Given the description of an element on the screen output the (x, y) to click on. 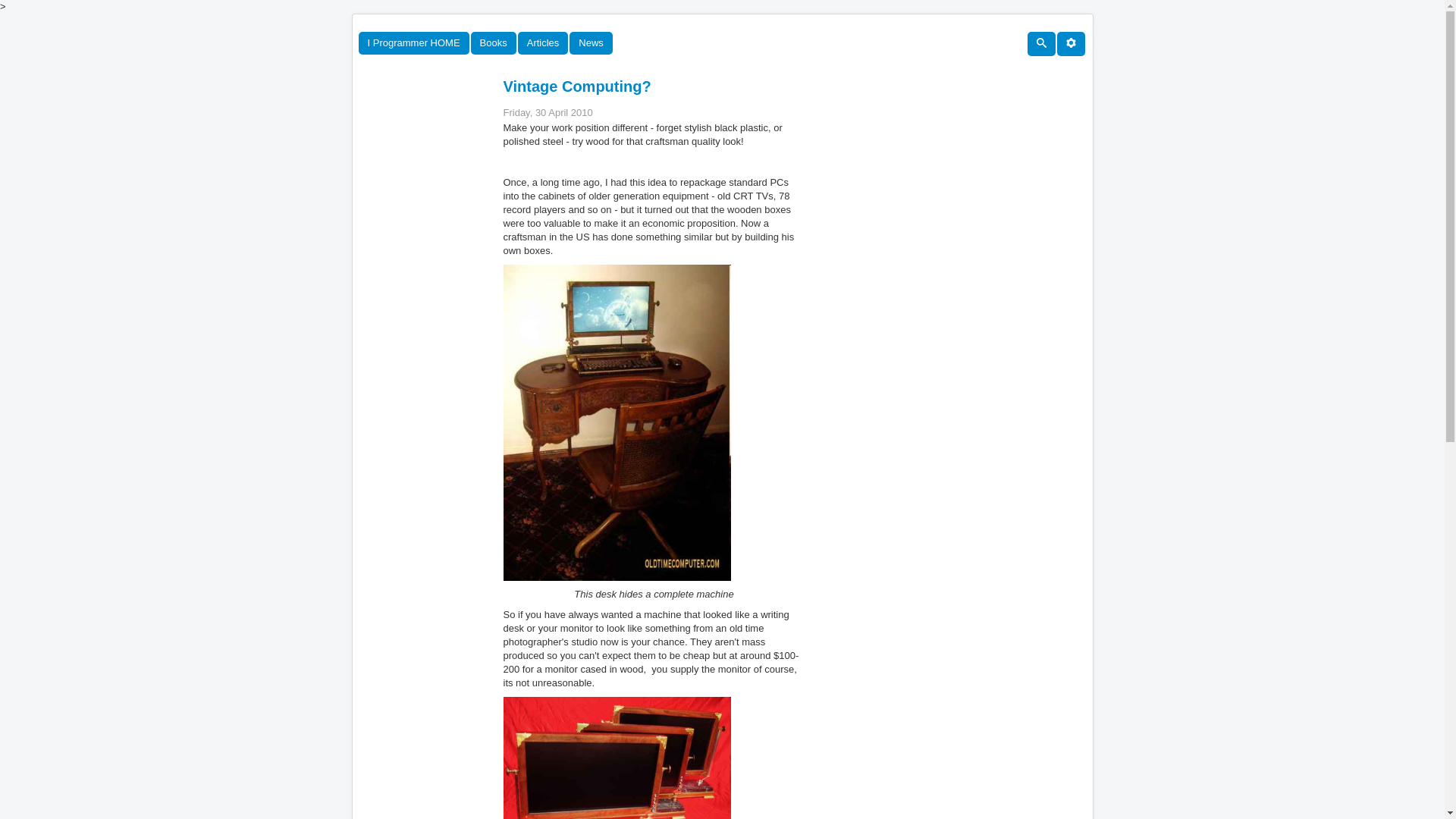
Books (493, 42)
I Programmer HOME (413, 42)
Articles (543, 42)
